Given the description of an element on the screen output the (x, y) to click on. 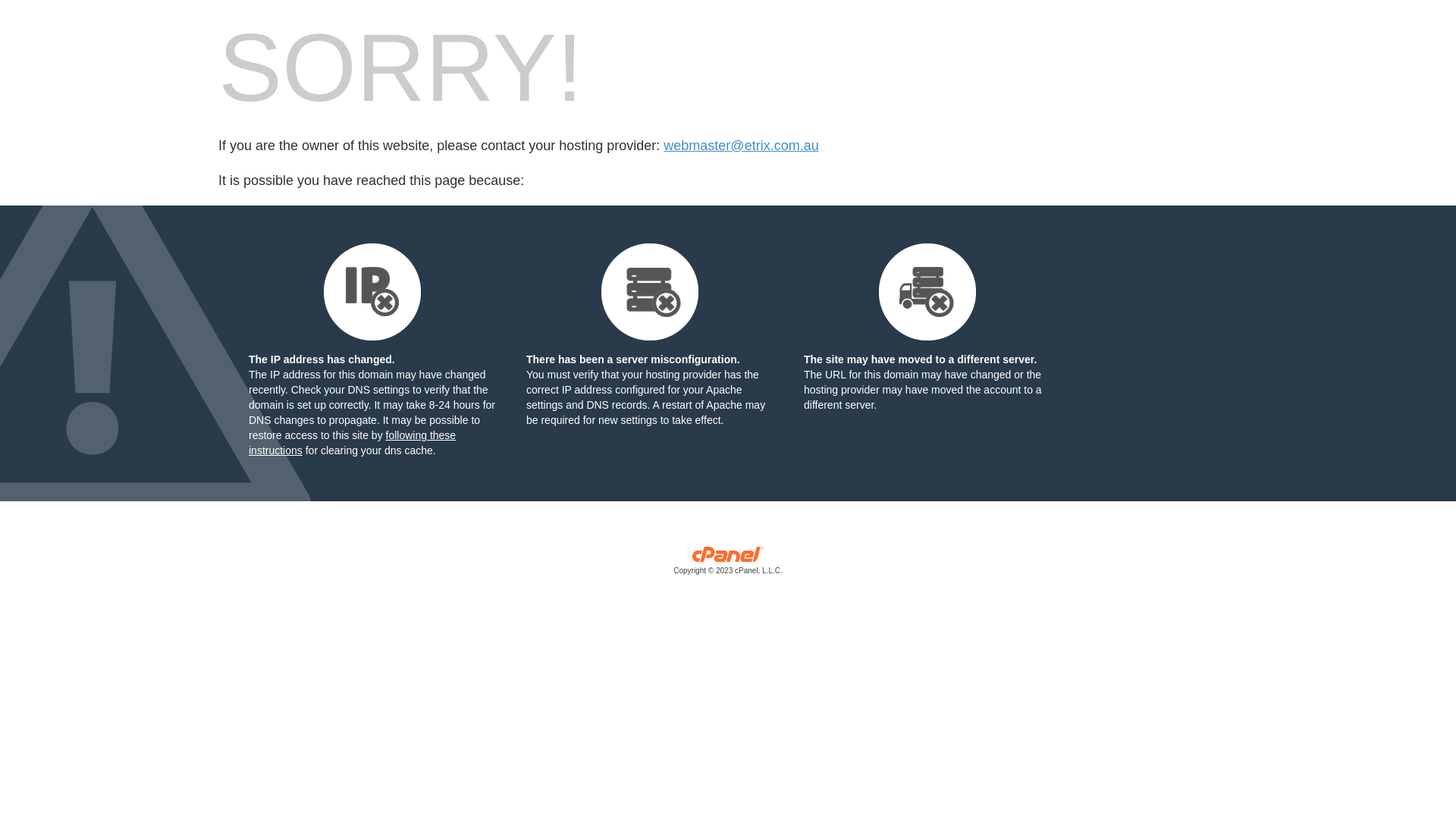
webmaster@etrix.com.au Element type: text (740, 145)
following these instructions Element type: text (351, 442)
